Given the description of an element on the screen output the (x, y) to click on. 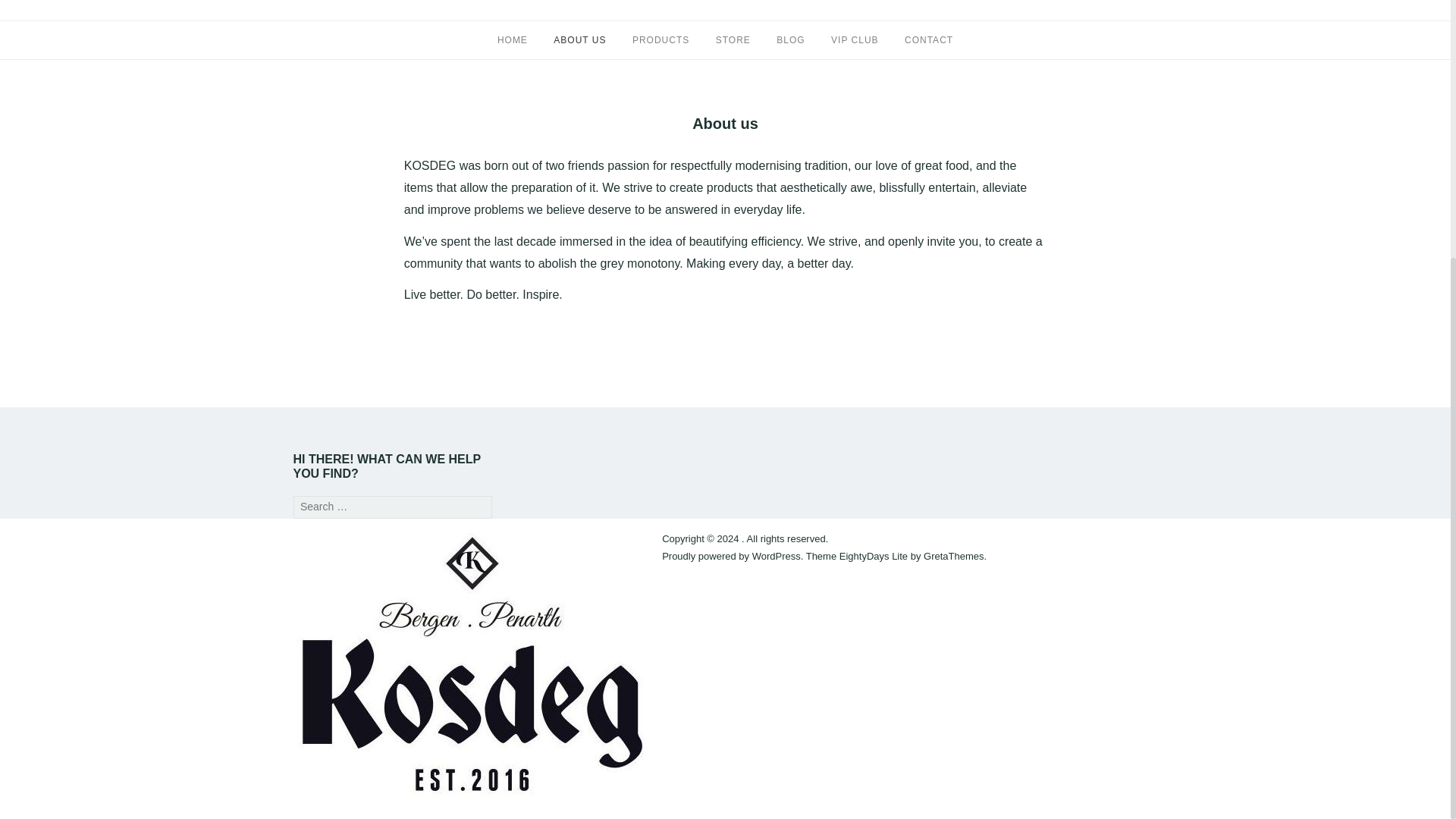
BLOG (790, 40)
STORE (733, 40)
EightyDays Lite (873, 555)
PRODUCTS (659, 40)
WordPress (776, 555)
CONTACT (928, 40)
ABOUT US (579, 40)
VIP CLUB (854, 40)
HOME (512, 40)
